Given the description of an element on the screen output the (x, y) to click on. 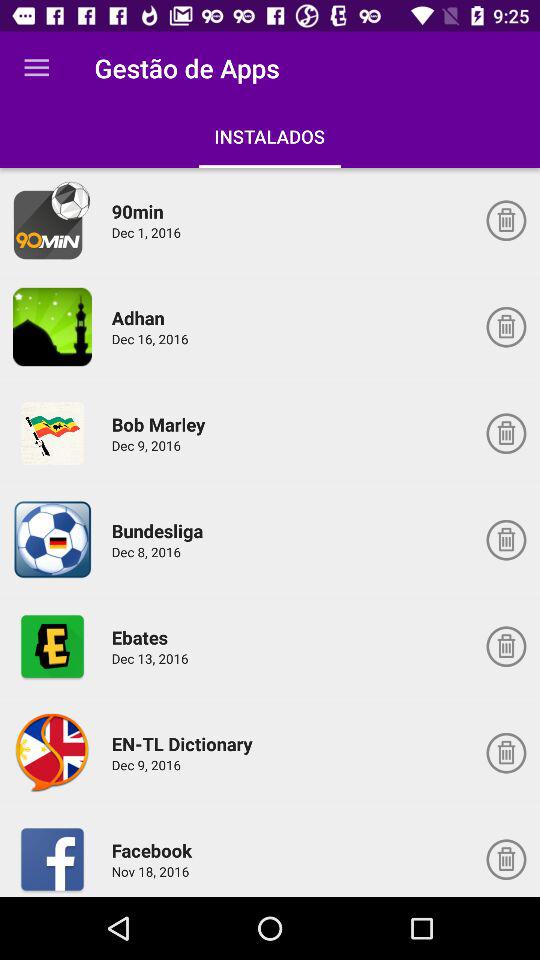
go to app (52, 539)
